Given the description of an element on the screen output the (x, y) to click on. 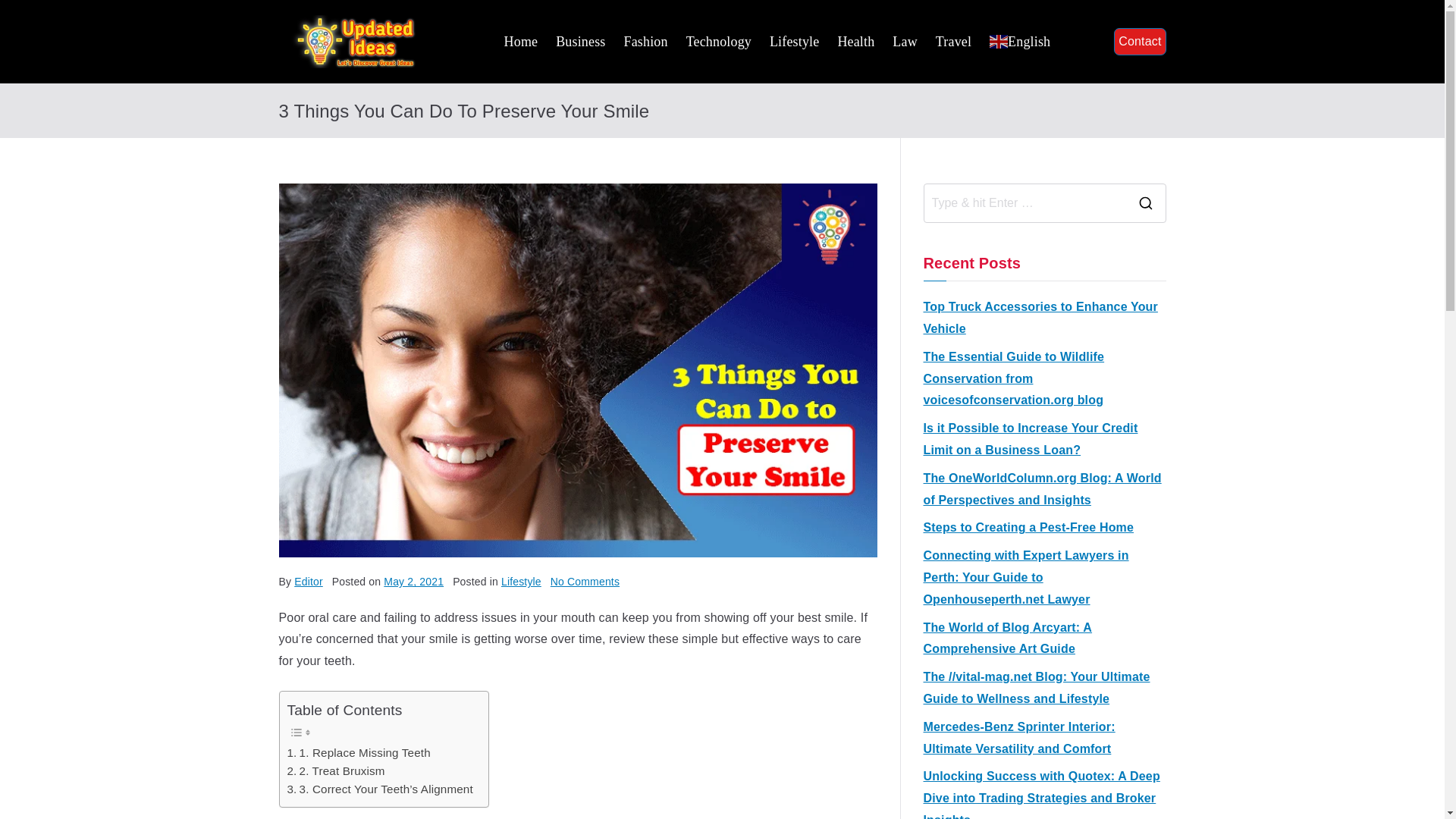
Contact (1139, 41)
Technology (718, 41)
Travel (953, 41)
1. Replace Missing Teeth (357, 752)
2. Treat Bruxism (335, 771)
Fashion (644, 41)
Search for: (1024, 202)
Lifestyle (794, 41)
English (1019, 41)
Search (26, 12)
Home (520, 41)
Law (904, 41)
Updated Ideas (506, 53)
Business (580, 41)
Health (856, 41)
